Given the description of an element on the screen output the (x, y) to click on. 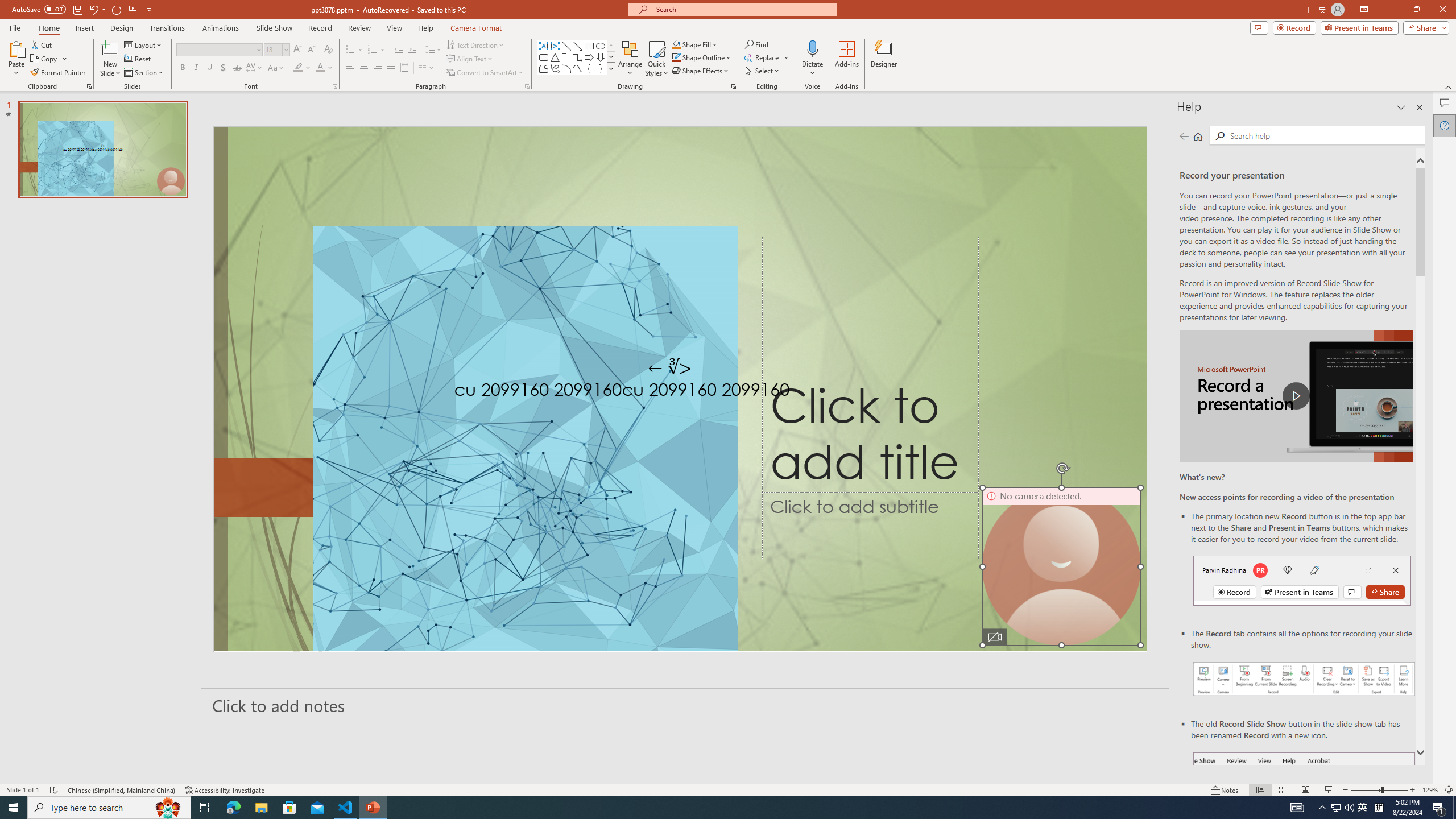
Shape Fill Dark Green, Accent 2 (675, 44)
